Given the description of an element on the screen output the (x, y) to click on. 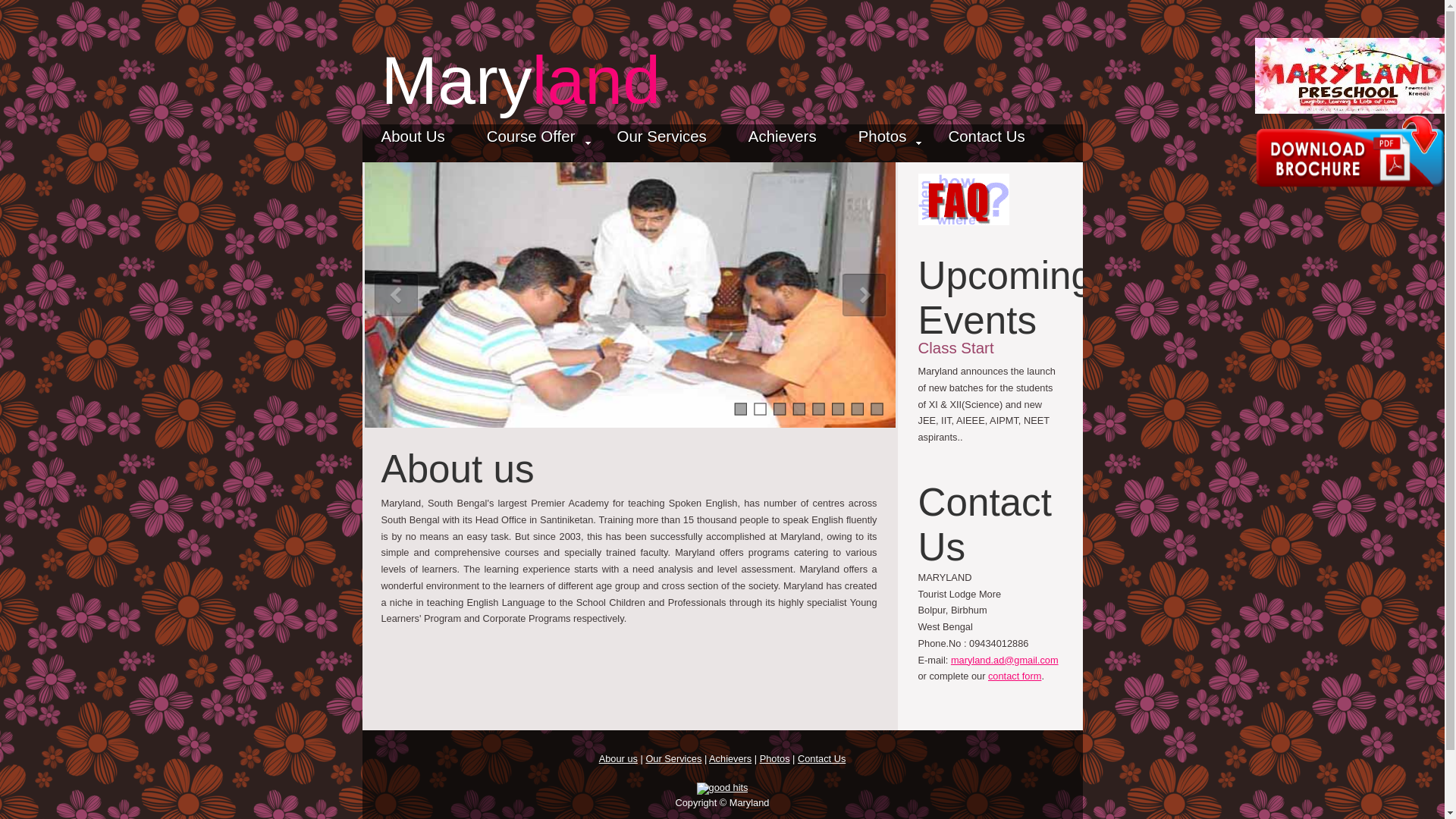
good hits (722, 788)
About Us (413, 141)
Contact Us (985, 141)
Our Services (660, 141)
Maryland (519, 79)
Contact Us (821, 758)
contact form (1014, 675)
Photos (883, 141)
Achievers (782, 141)
Achievers (730, 758)
Course Offer (530, 141)
Our Services (673, 758)
Photos (775, 758)
Abour us (617, 758)
